Given the description of an element on the screen output the (x, y) to click on. 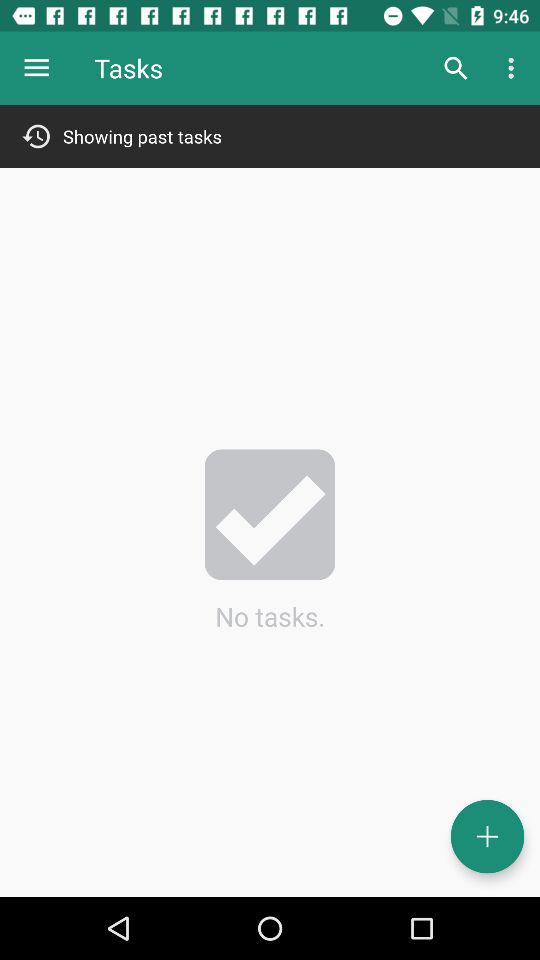
turn on item to the left of tasks (36, 68)
